Given the description of an element on the screen output the (x, y) to click on. 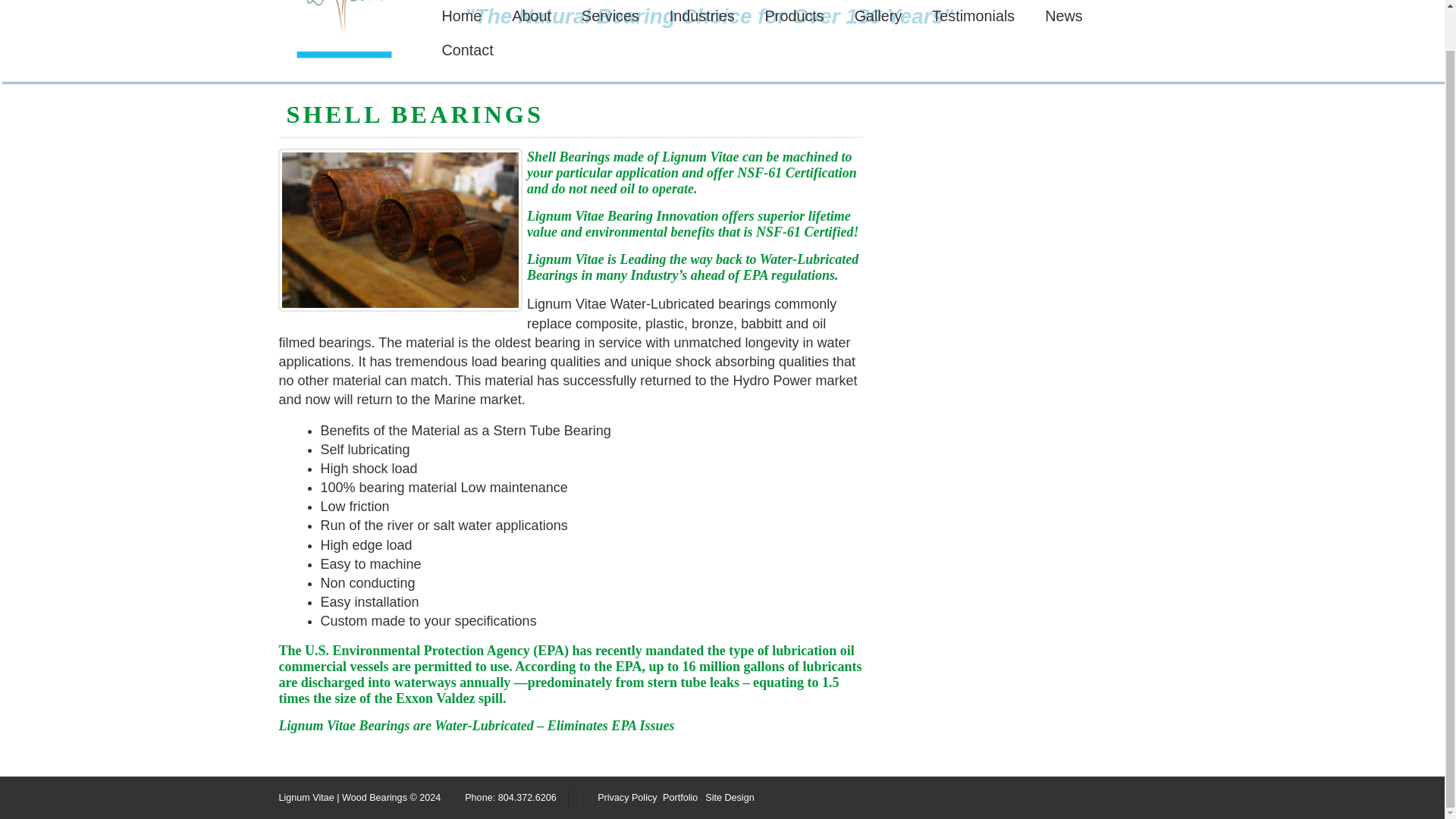
Services (610, 16)
Industries (701, 16)
Home (461, 16)
Home (461, 16)
Industries (701, 16)
Services (610, 16)
Products (794, 16)
About (531, 16)
About (531, 16)
